Given the description of an element on the screen output the (x, y) to click on. 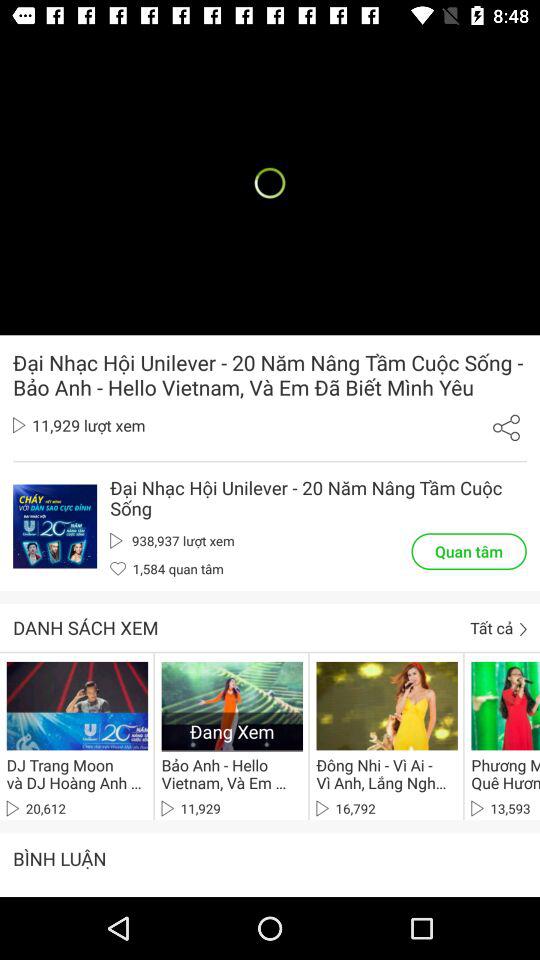
select 13,593 item (500, 808)
